Given the description of an element on the screen output the (x, y) to click on. 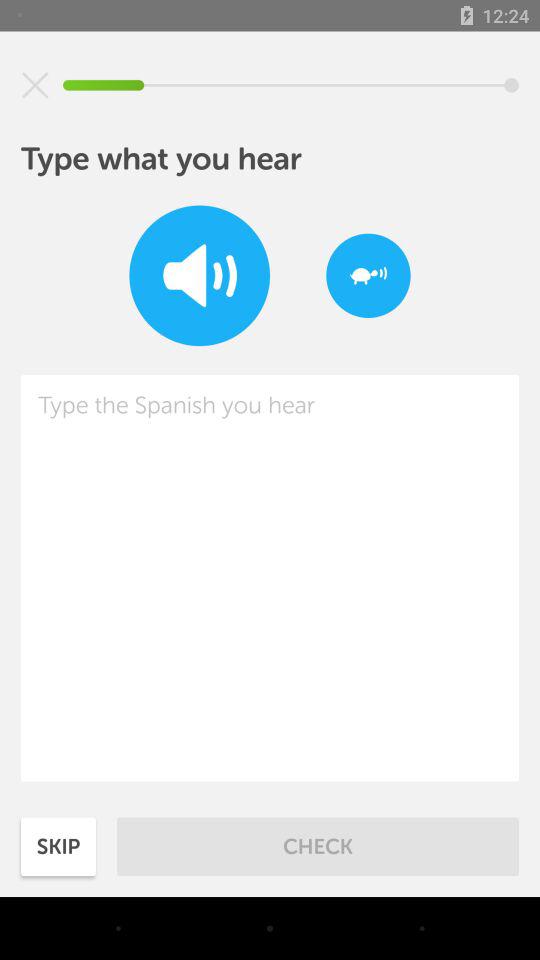
choose the skip (58, 846)
